Given the description of an element on the screen output the (x, y) to click on. 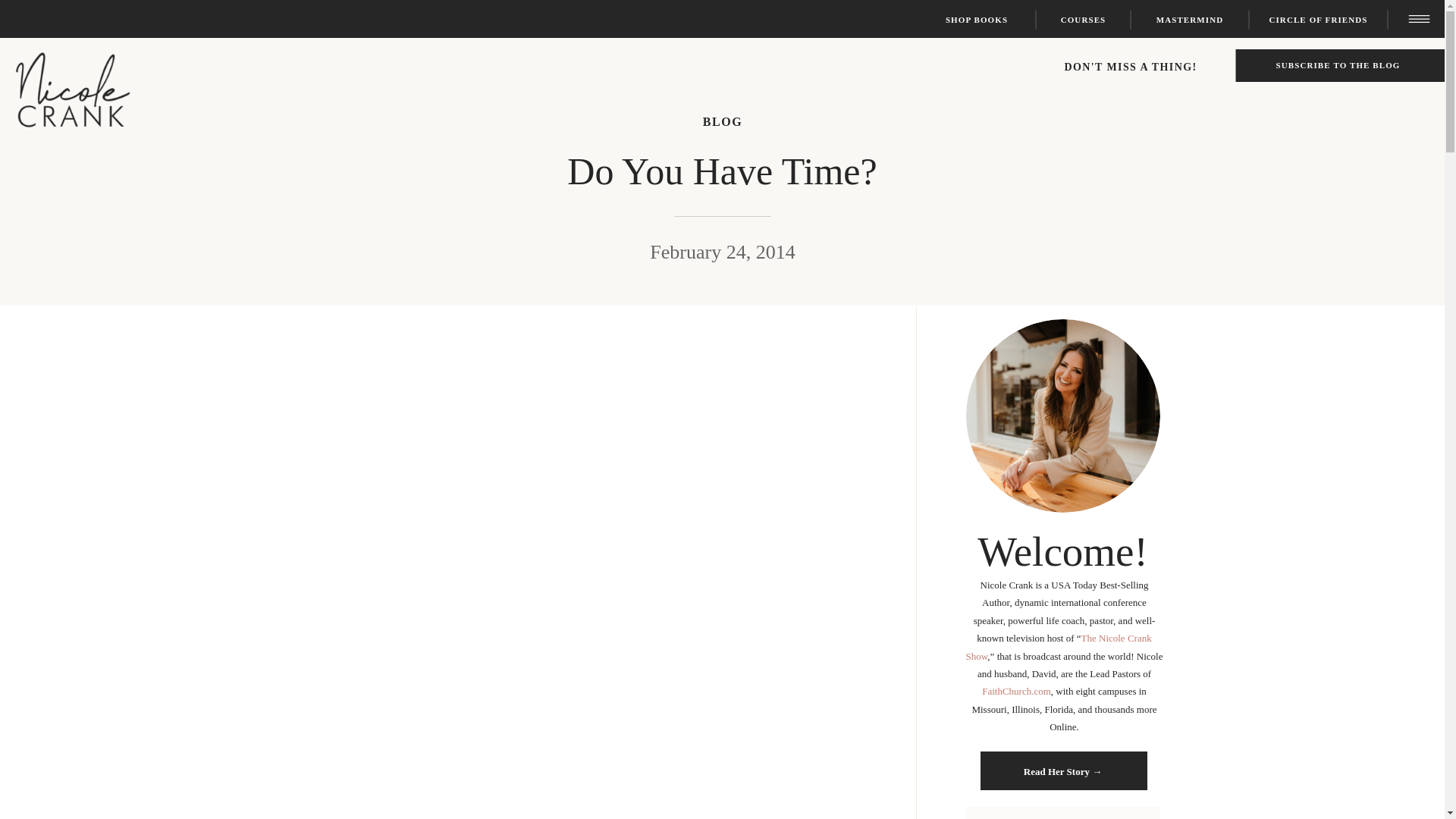
COURSES (1082, 19)
SHOP BOOKS (976, 19)
FaithChurch.com (1016, 690)
CIRCLE OF FRIENDS (1317, 19)
The Nicole Crank Show (1058, 646)
MASTERMIND (1189, 19)
BLOG (722, 121)
